Given the description of an element on the screen output the (x, y) to click on. 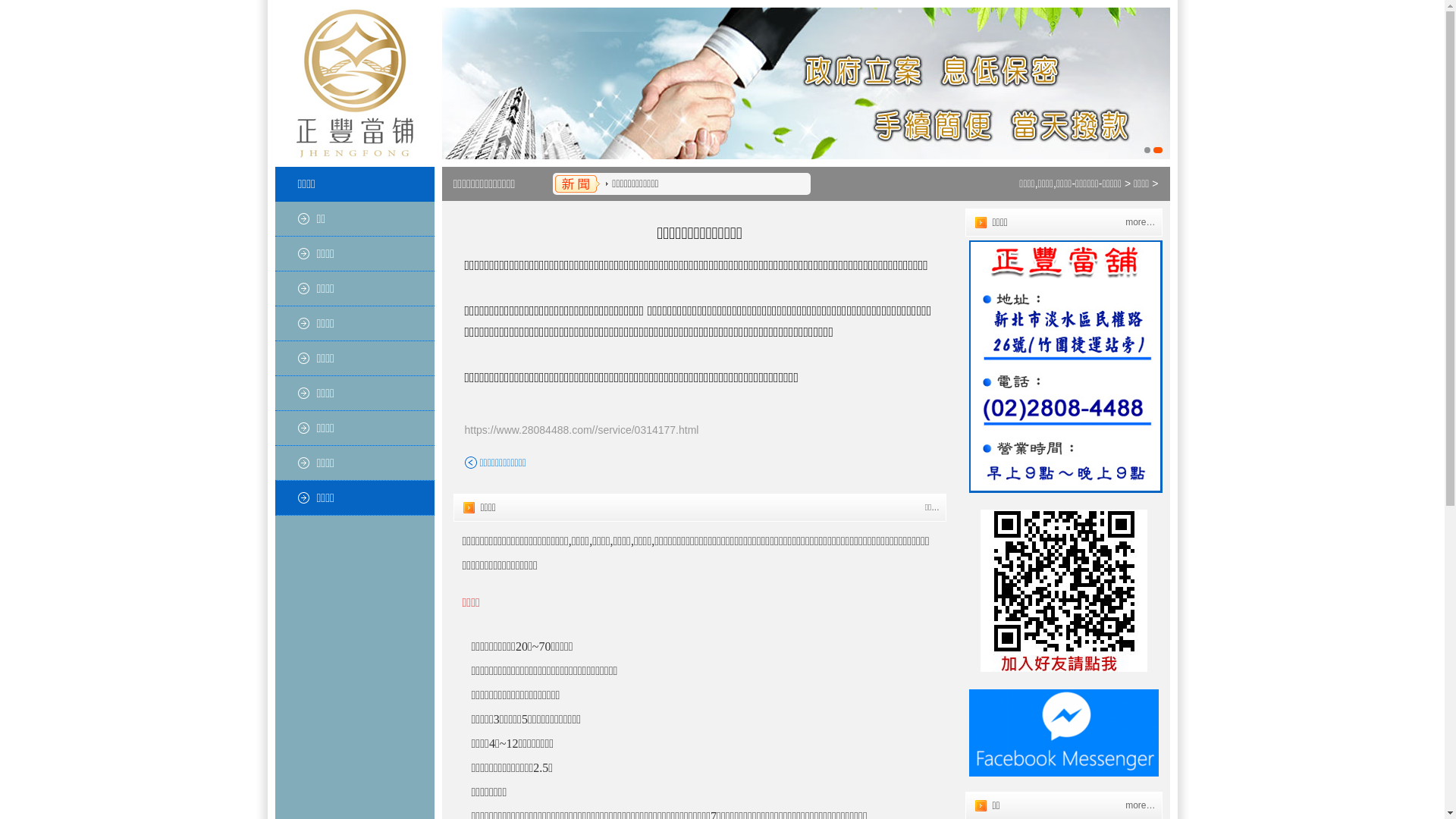
https://www.28084488.com//service/0314177.html Element type: text (581, 429)
